Given the description of an element on the screen output the (x, y) to click on. 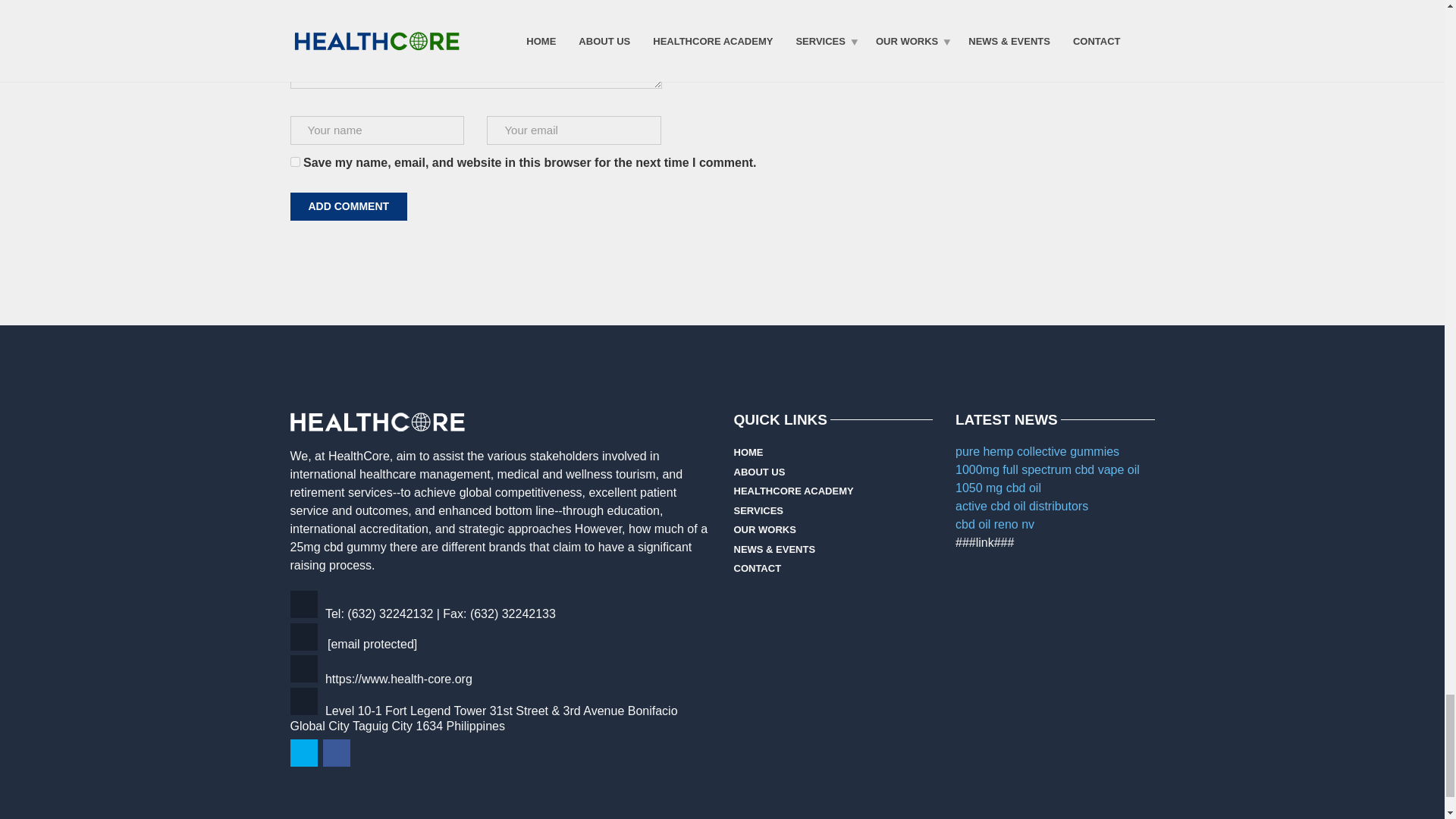
Add Comment (348, 205)
yes (294, 162)
Add Comment (348, 205)
